Given the description of an element on the screen output the (x, y) to click on. 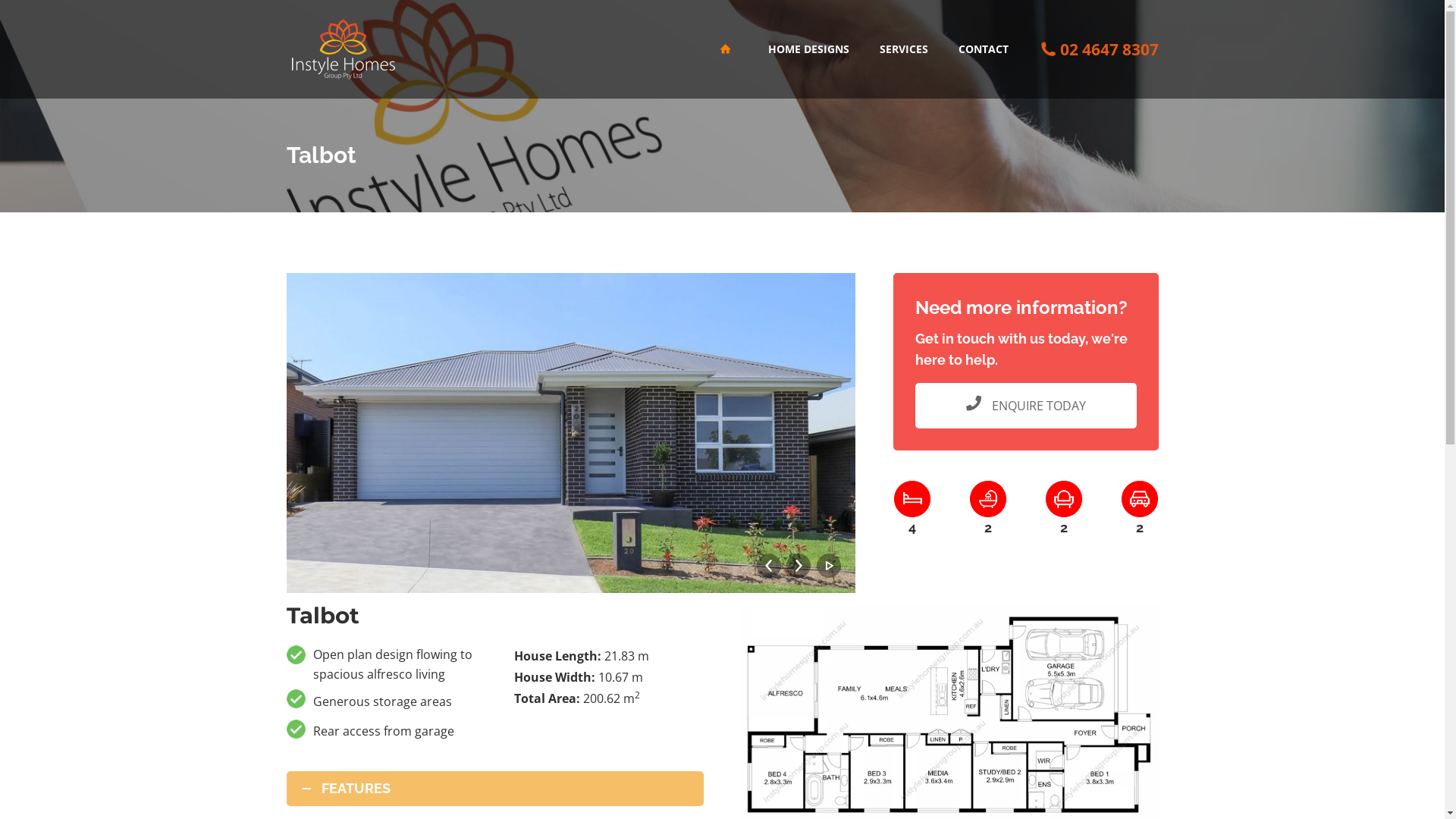
FEATURES Element type: text (494, 788)
SERVICES Element type: text (902, 48)
ENQUIRE TODAY Element type: text (1024, 405)
Living Rooms Element type: hover (1062, 498)
02 4647 8307 Element type: text (1109, 49)
Bedrooms Element type: hover (911, 498)
Bath Rooms Element type: hover (987, 498)
Cars Element type: hover (1138, 498)
HOME DESIGNS Element type: text (808, 48)
CONTACT Element type: text (982, 48)
